Given the description of an element on the screen output the (x, y) to click on. 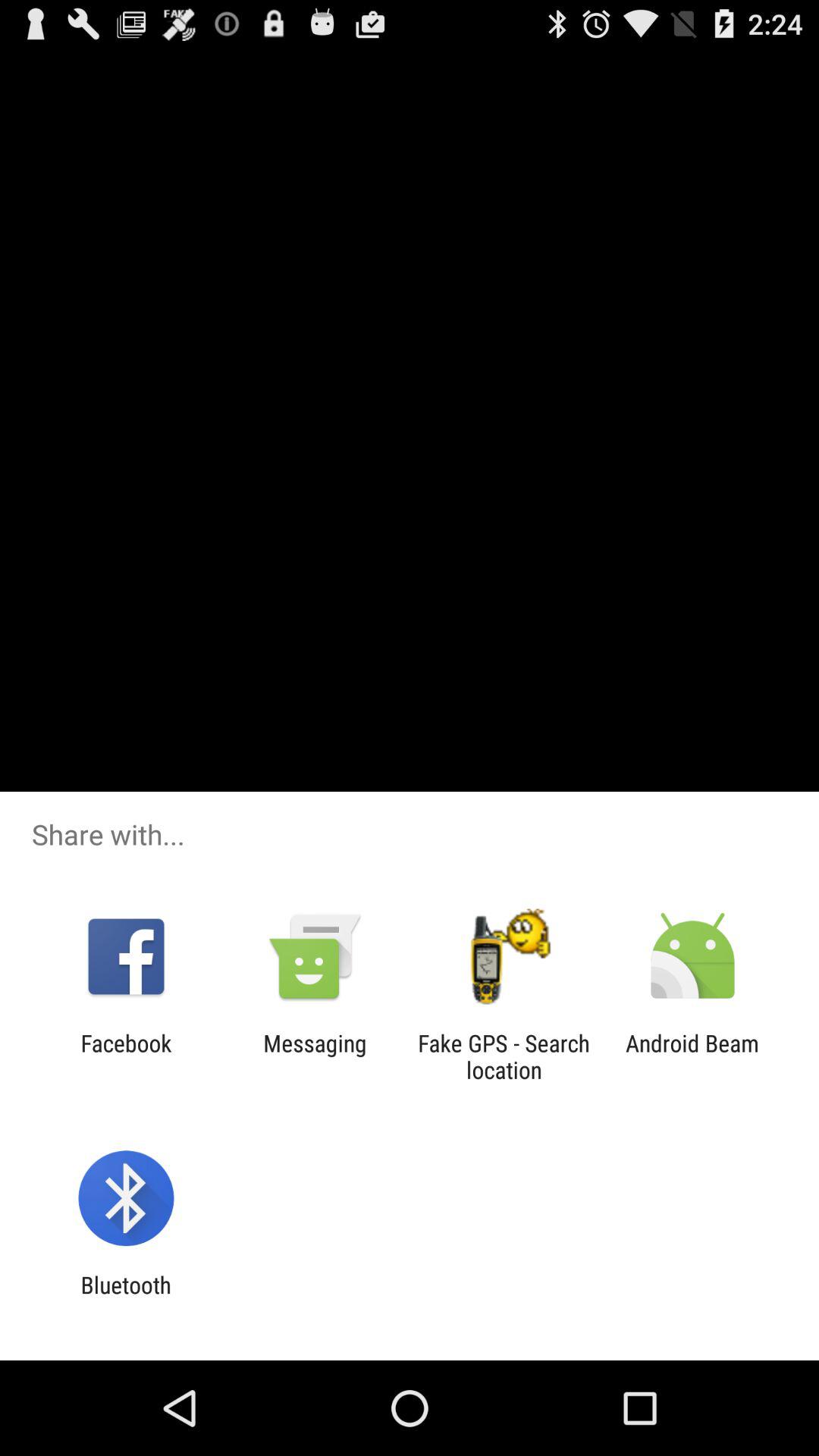
launch the item next to the fake gps search app (692, 1056)
